Given the description of an element on the screen output the (x, y) to click on. 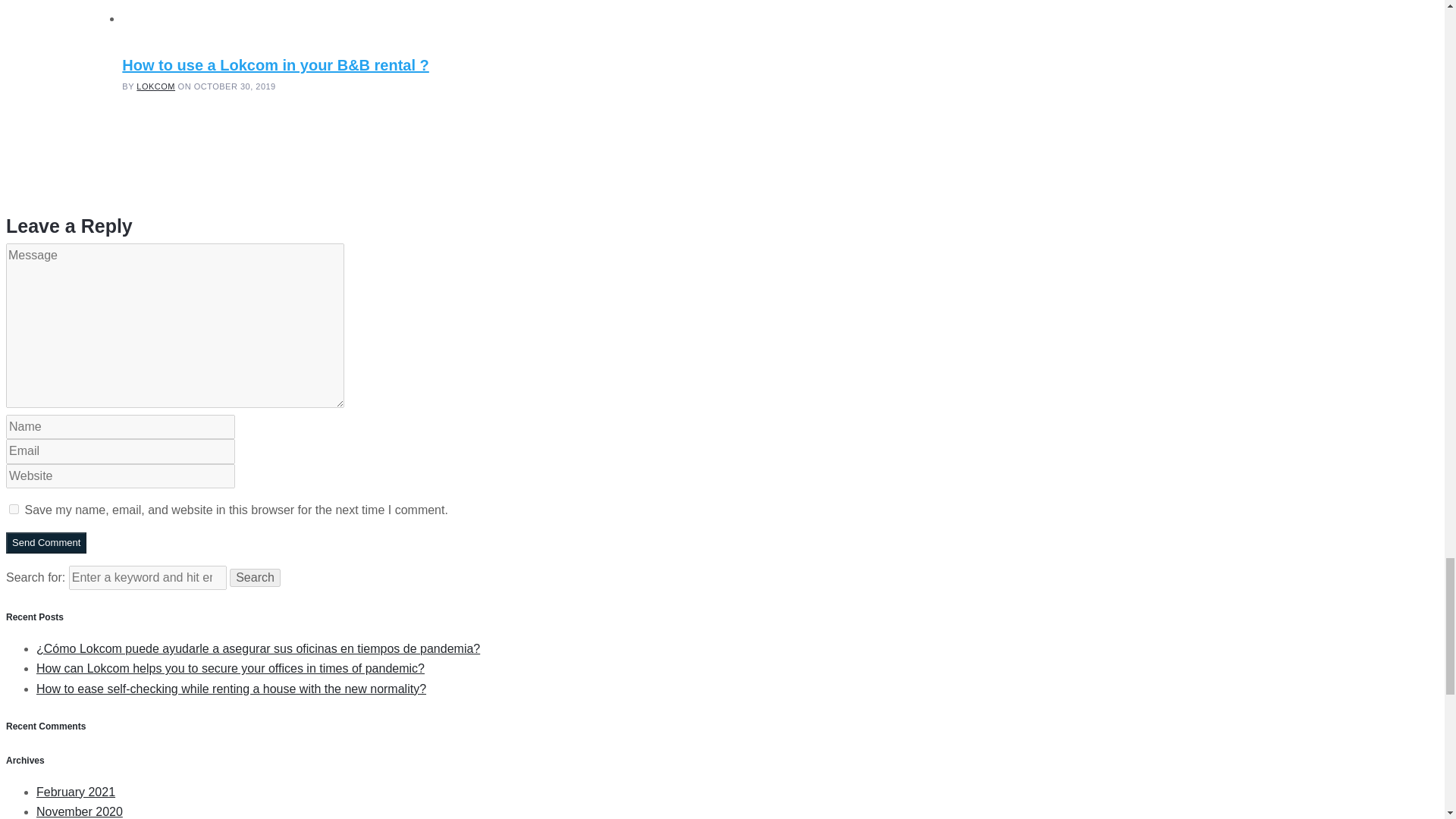
Send Comment (45, 542)
yes (13, 509)
Search (255, 577)
Posts by Lokcom (155, 85)
Search (255, 577)
